Given the description of an element on the screen output the (x, y) to click on. 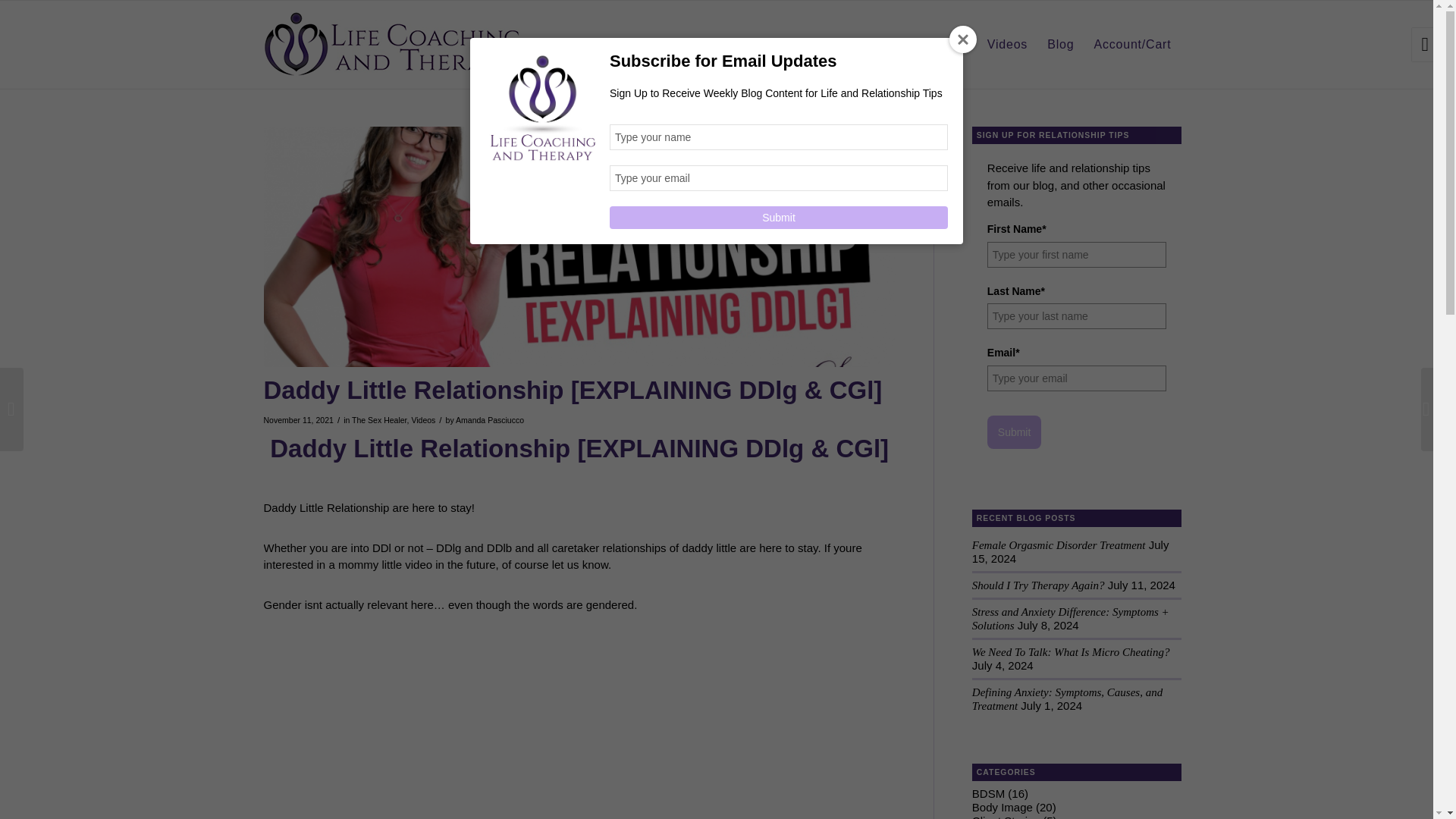
Videos (1006, 44)
What We Do (799, 44)
Blog (1059, 44)
Get To Know Us (694, 44)
Submit (778, 217)
The Sex Healer (379, 420)
Amanda Pasciucco (489, 420)
Posts by Amanda Pasciucco (489, 420)
YouTube video player (475, 721)
logo-purple-horizontal (392, 43)
logo-purple-horizontal (392, 44)
Videos (422, 420)
Make Appointment (911, 44)
